Given the description of an element on the screen output the (x, y) to click on. 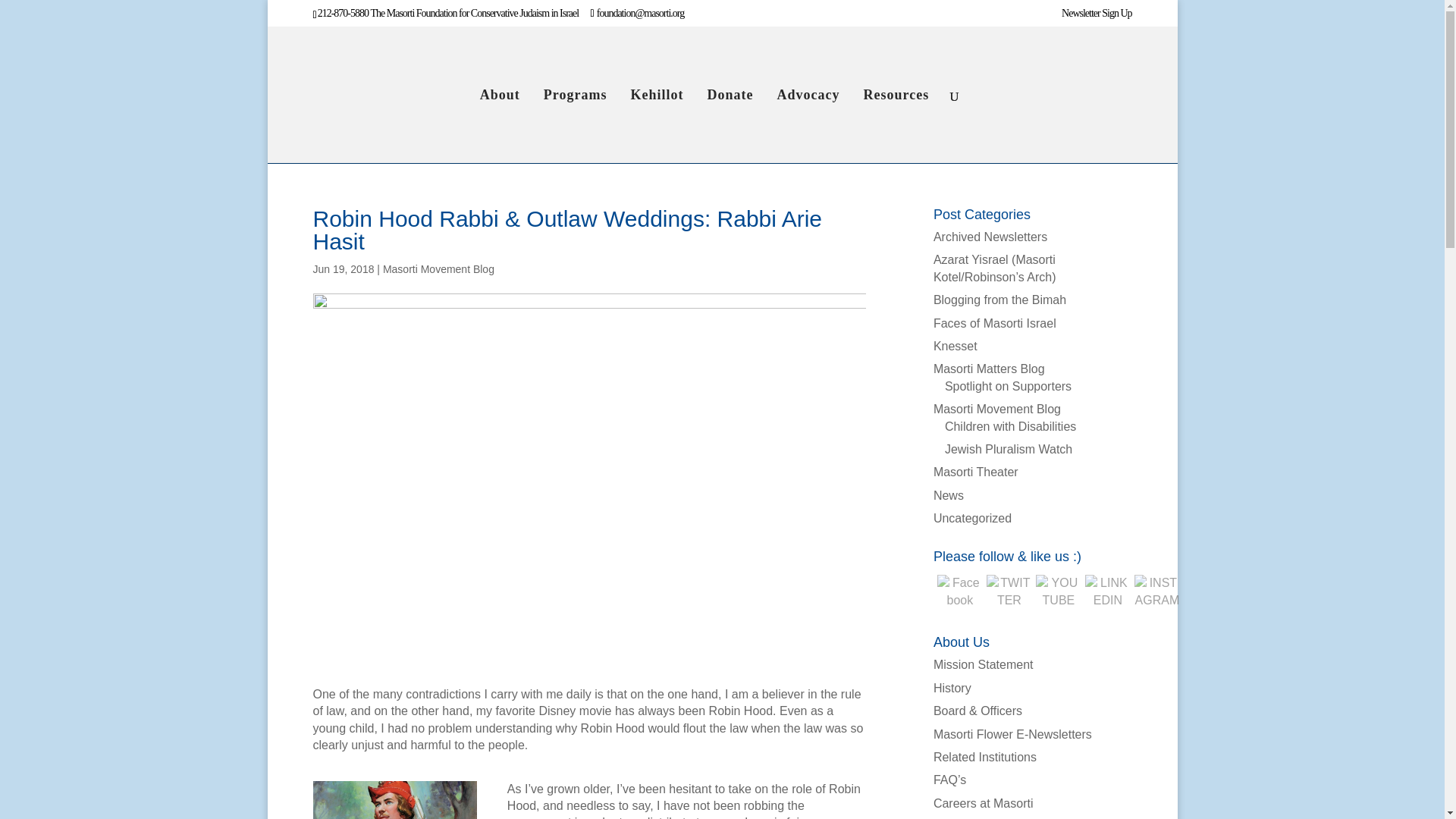
Blogging from the Bimah (999, 299)
Spotlight on Supporters (1007, 386)
Advocacy (809, 121)
Resources (898, 121)
YOUTUBE (1058, 591)
Newsletter Sign Up (1096, 16)
Masorti Movement Blog (997, 408)
LINKEDIN (1107, 591)
Archived Newsletters (989, 236)
Masorti Movement Blog (438, 268)
